Given the description of an element on the screen output the (x, y) to click on. 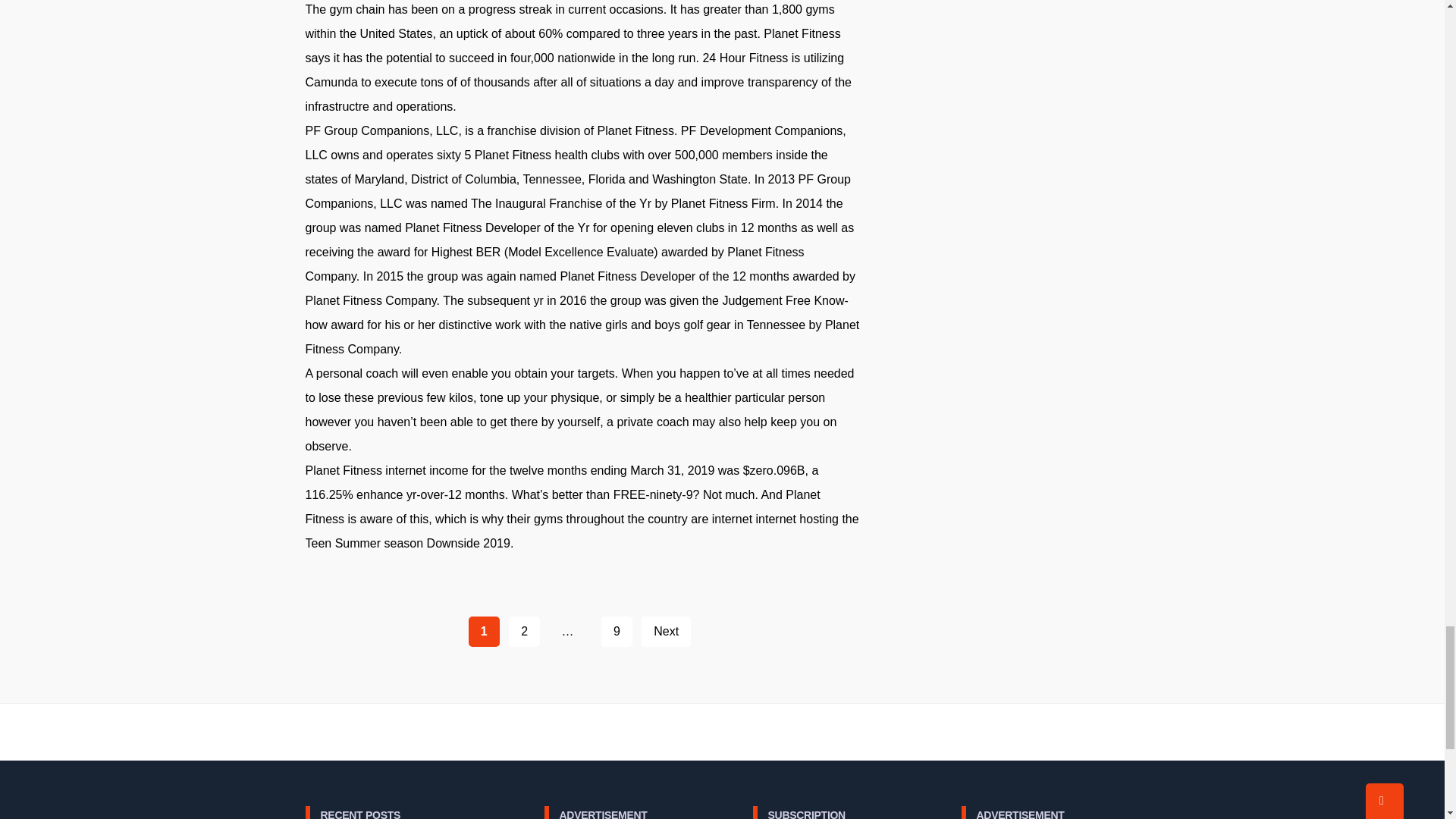
2 (524, 631)
9 (616, 631)
Next (666, 631)
